Given the description of an element on the screen output the (x, y) to click on. 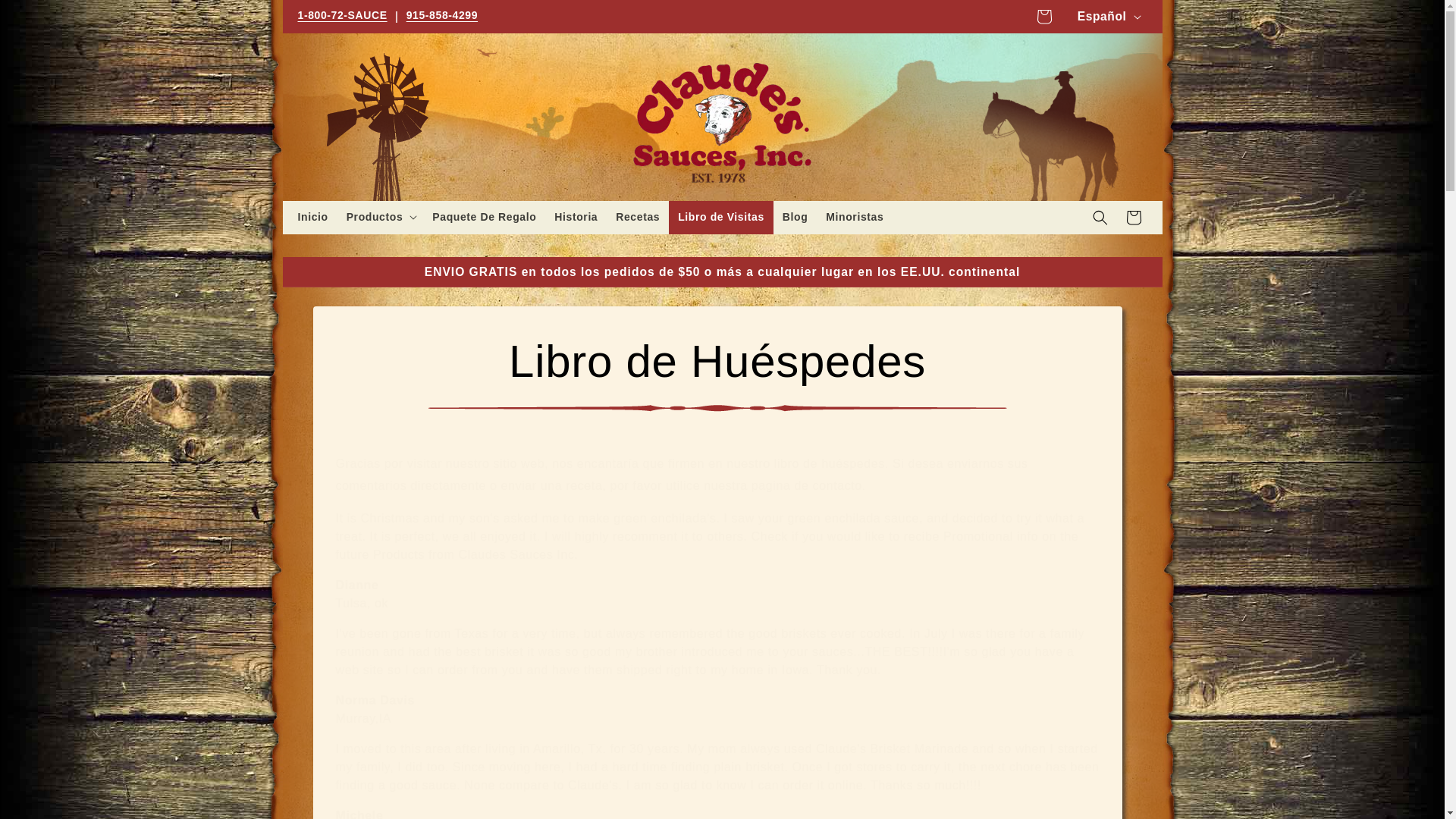
Recetas (637, 216)
Paquete De Regalo (483, 216)
1-800-72-SAUCE (342, 16)
Libro de Visitas (720, 216)
Carrito (1133, 217)
Minoristas (854, 216)
Historia (575, 216)
Carrito (1044, 16)
915-858-4299 (441, 16)
Inicio (312, 216)
Ir directamente al contenido (46, 18)
Blog (794, 216)
